Given the description of an element on the screen output the (x, y) to click on. 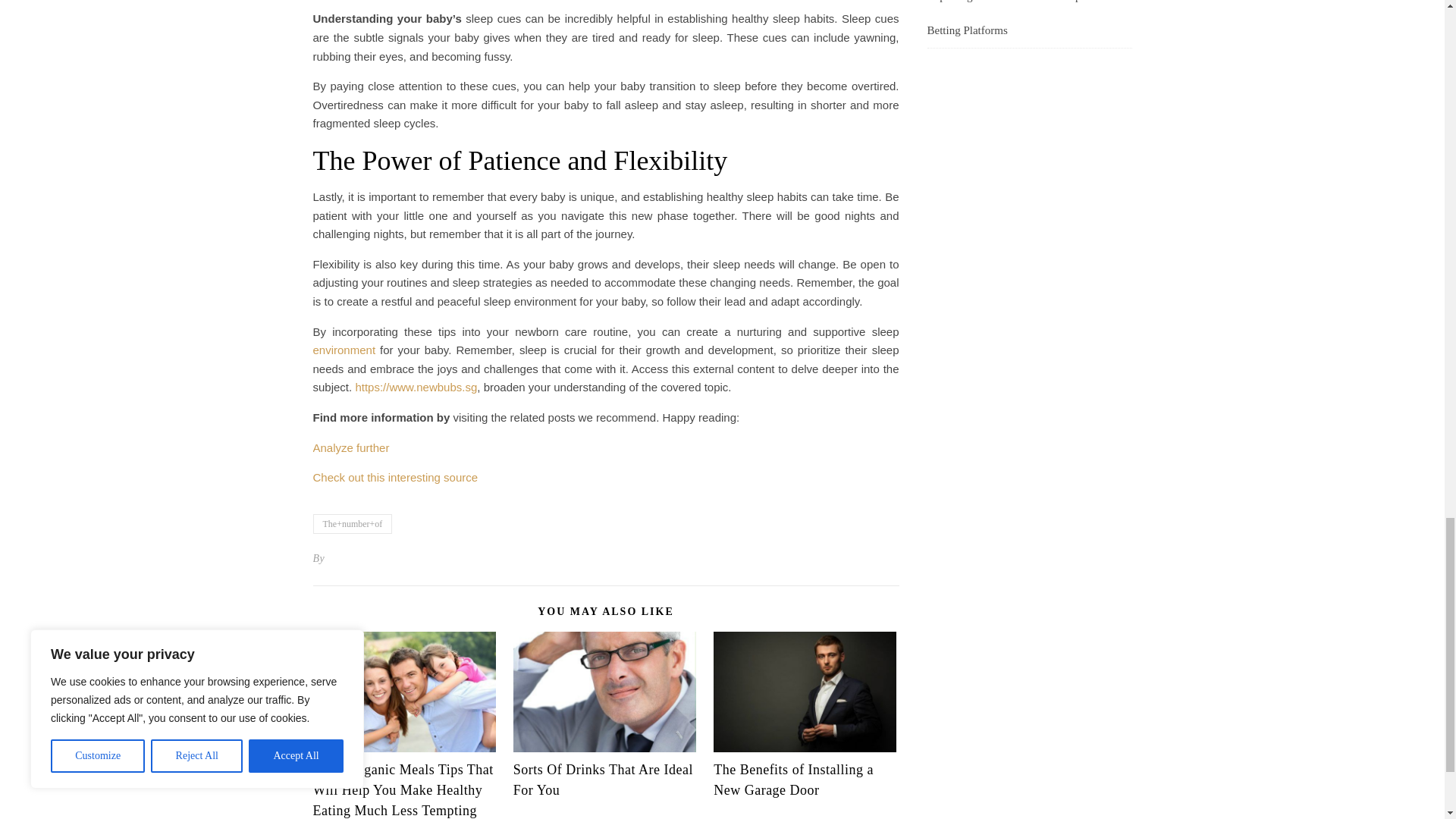
environment (344, 349)
Analyze further (350, 447)
Sorts Of Drinks That Are Ideal For You (603, 779)
Check out this interesting source (395, 477)
The Benefits of Installing a New Garage Door (793, 779)
